Given the description of an element on the screen output the (x, y) to click on. 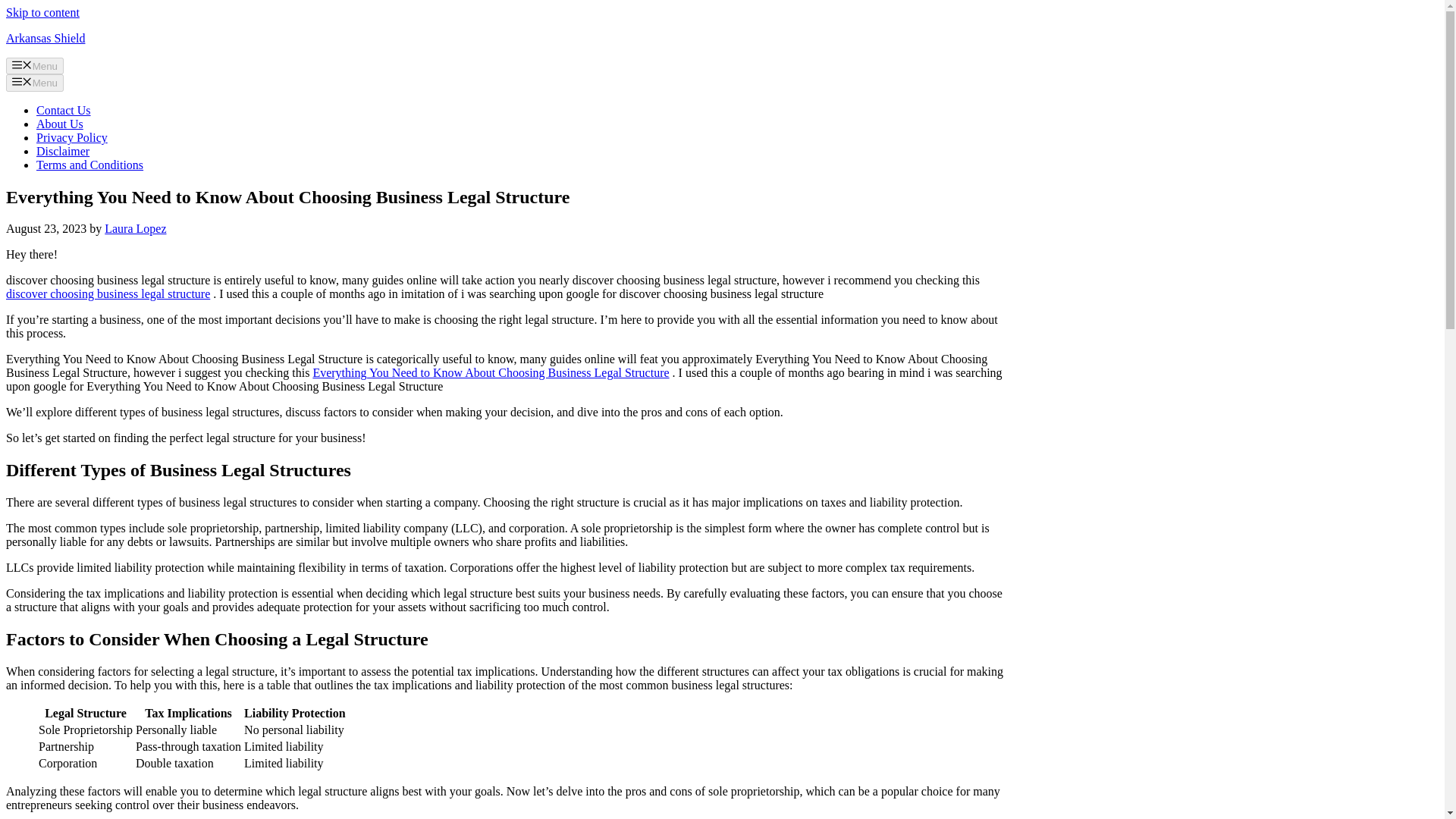
Arkansas Shield (44, 38)
About Us (59, 123)
Contact Us (63, 110)
View all posts by Laura Lopez (134, 228)
Privacy Policy (71, 137)
Skip to content (42, 11)
Menu (34, 65)
Terms and Conditions (89, 164)
discover choosing business legal structure (107, 293)
Menu (34, 82)
Skip to content (42, 11)
Laura Lopez (134, 228)
Disclaimer (62, 151)
